Given the description of an element on the screen output the (x, y) to click on. 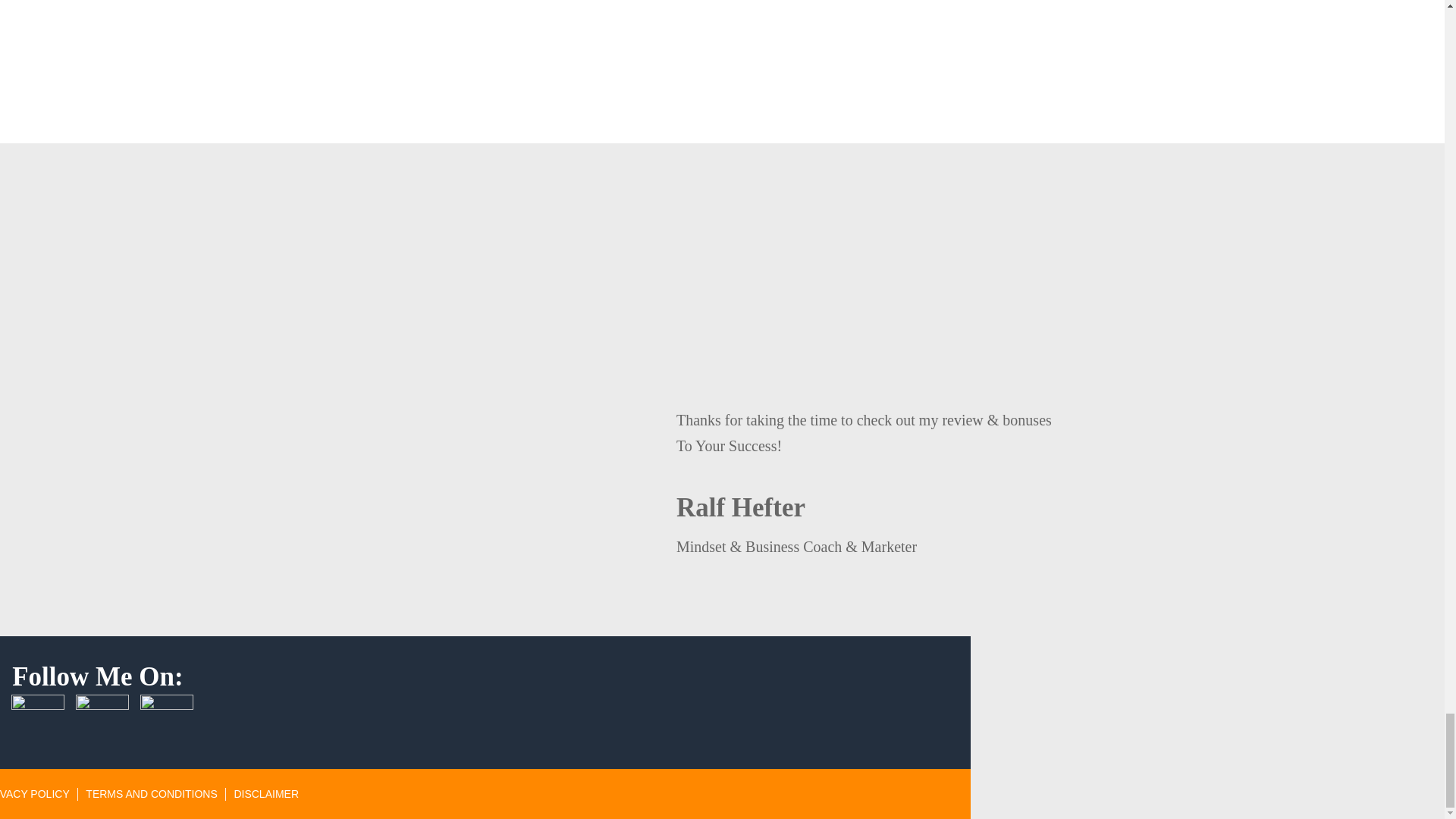
Instagram (102, 720)
DISCLAIMER (265, 793)
TERMS AND CONDITIONS (150, 793)
YouTube (166, 720)
Facebook (37, 720)
PRIVACY POLICY (34, 793)
